Given the description of an element on the screen output the (x, y) to click on. 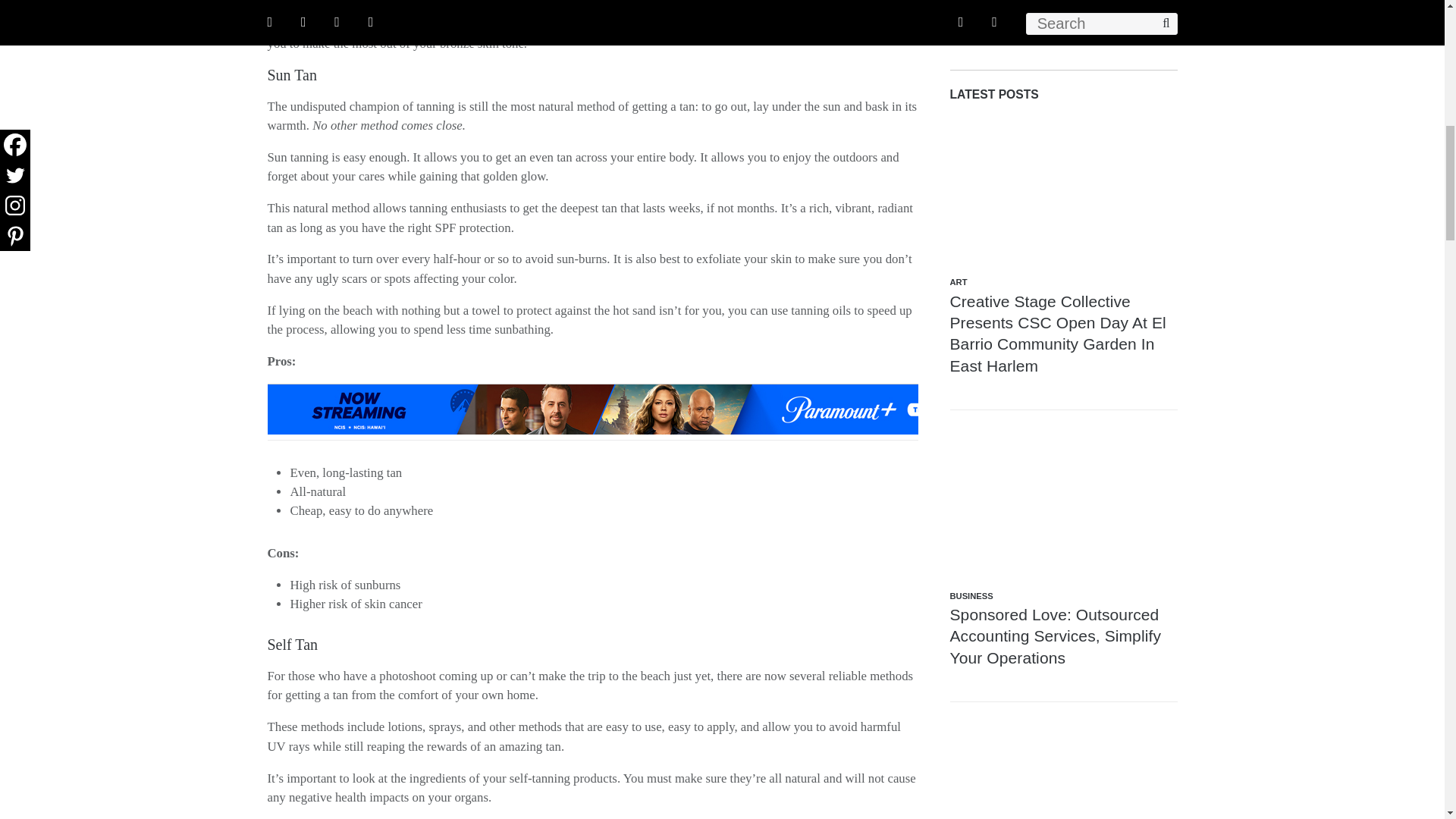
tanning guidelines (772, 23)
